Given the description of an element on the screen output the (x, y) to click on. 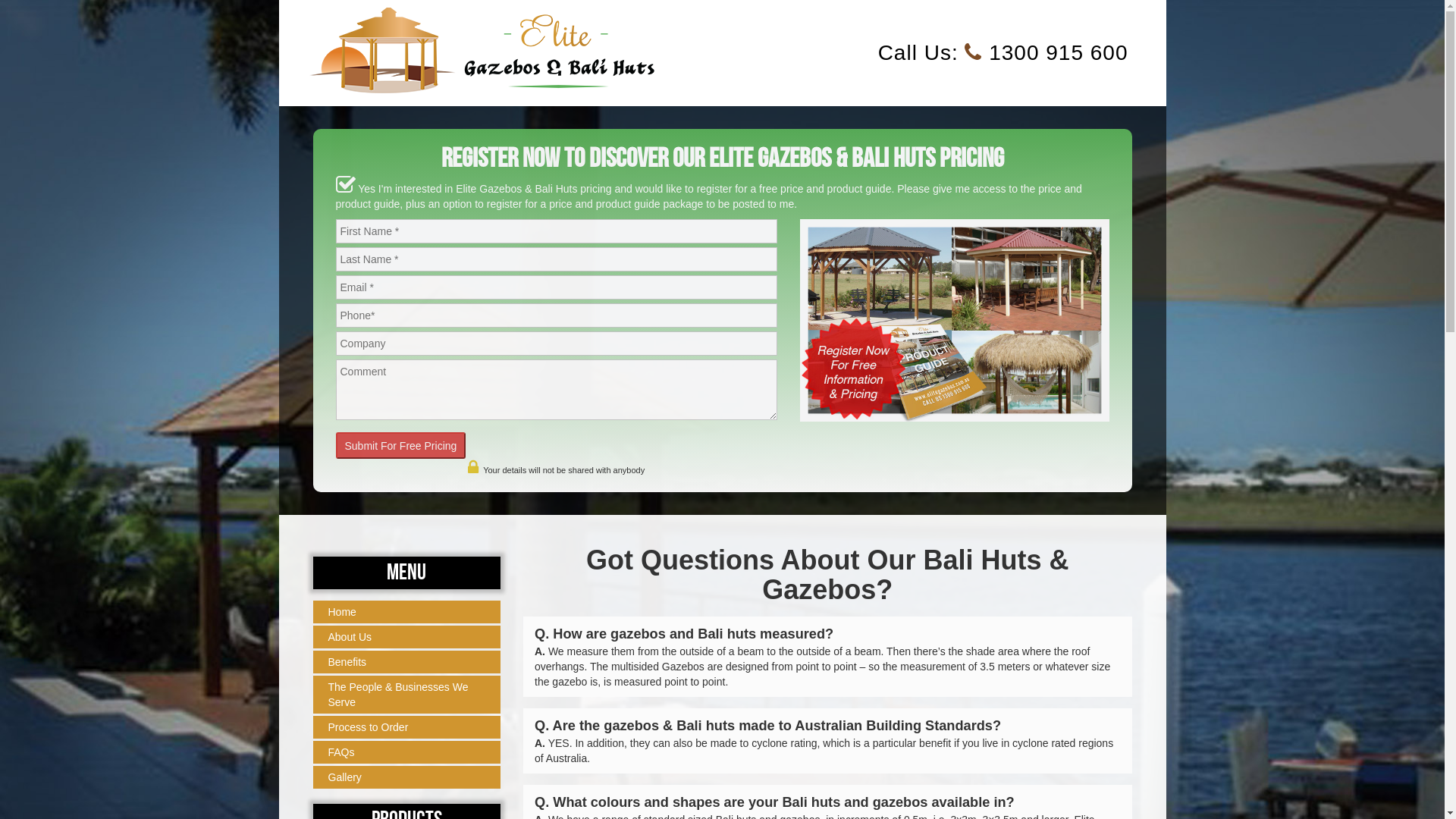
About Us Element type: text (406, 636)
Gallery Element type: text (406, 776)
Submit For Free Pricing Element type: text (400, 445)
Home Element type: text (406, 611)
The People & Businesses We Serve Element type: text (406, 694)
FAQs Element type: text (406, 751)
Process to Order Element type: text (406, 726)
Benefits Element type: text (406, 661)
